Given the description of an element on the screen output the (x, y) to click on. 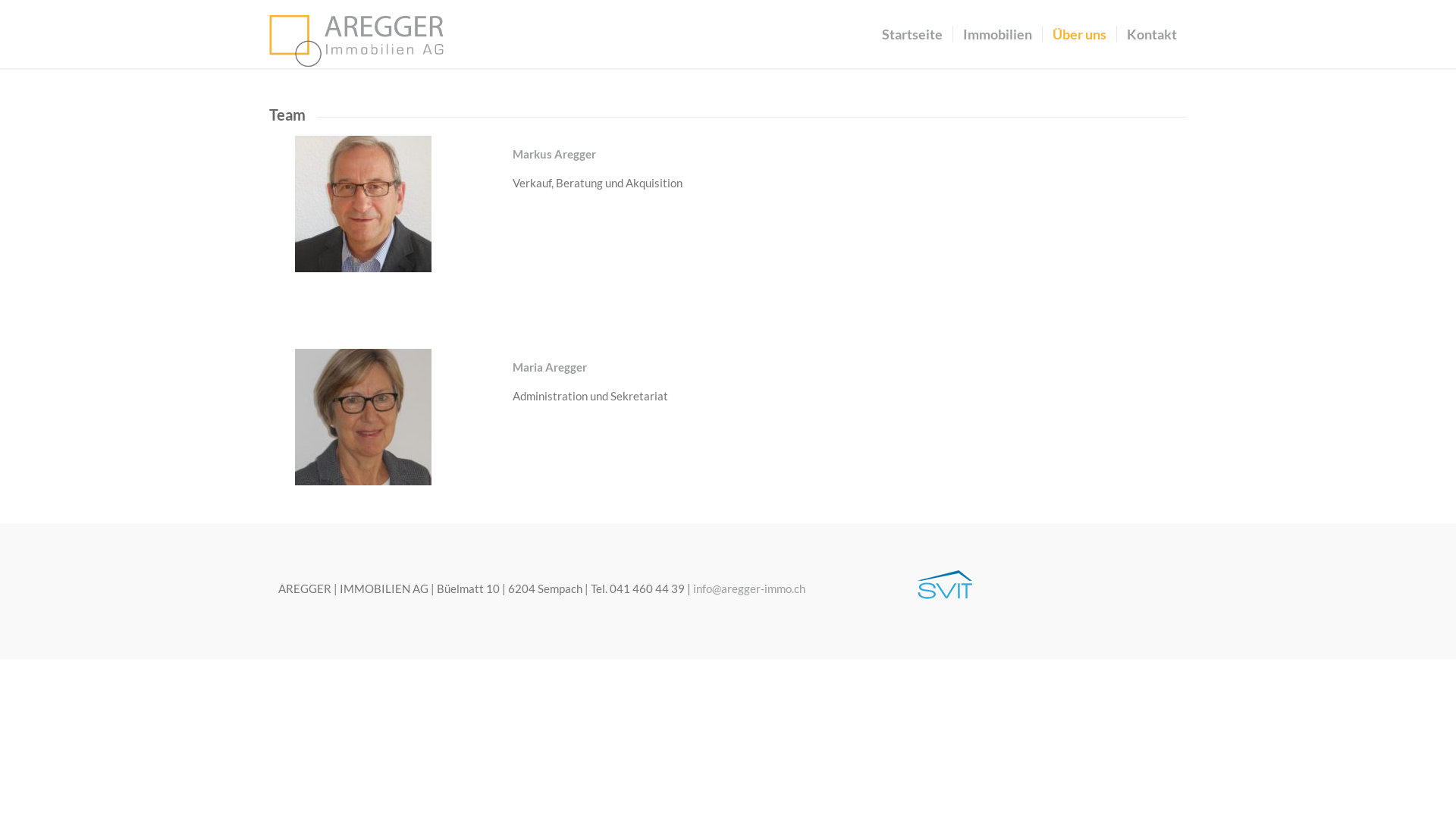
Markus Aregger Element type: hover (362, 202)
Maria Aregger Element type: hover (362, 416)
Kontakt Element type: text (1151, 34)
info@aregger-immo.ch Element type: text (749, 588)
Immobilien Element type: text (996, 34)
Startseite Element type: text (912, 34)
